Given the description of an element on the screen output the (x, y) to click on. 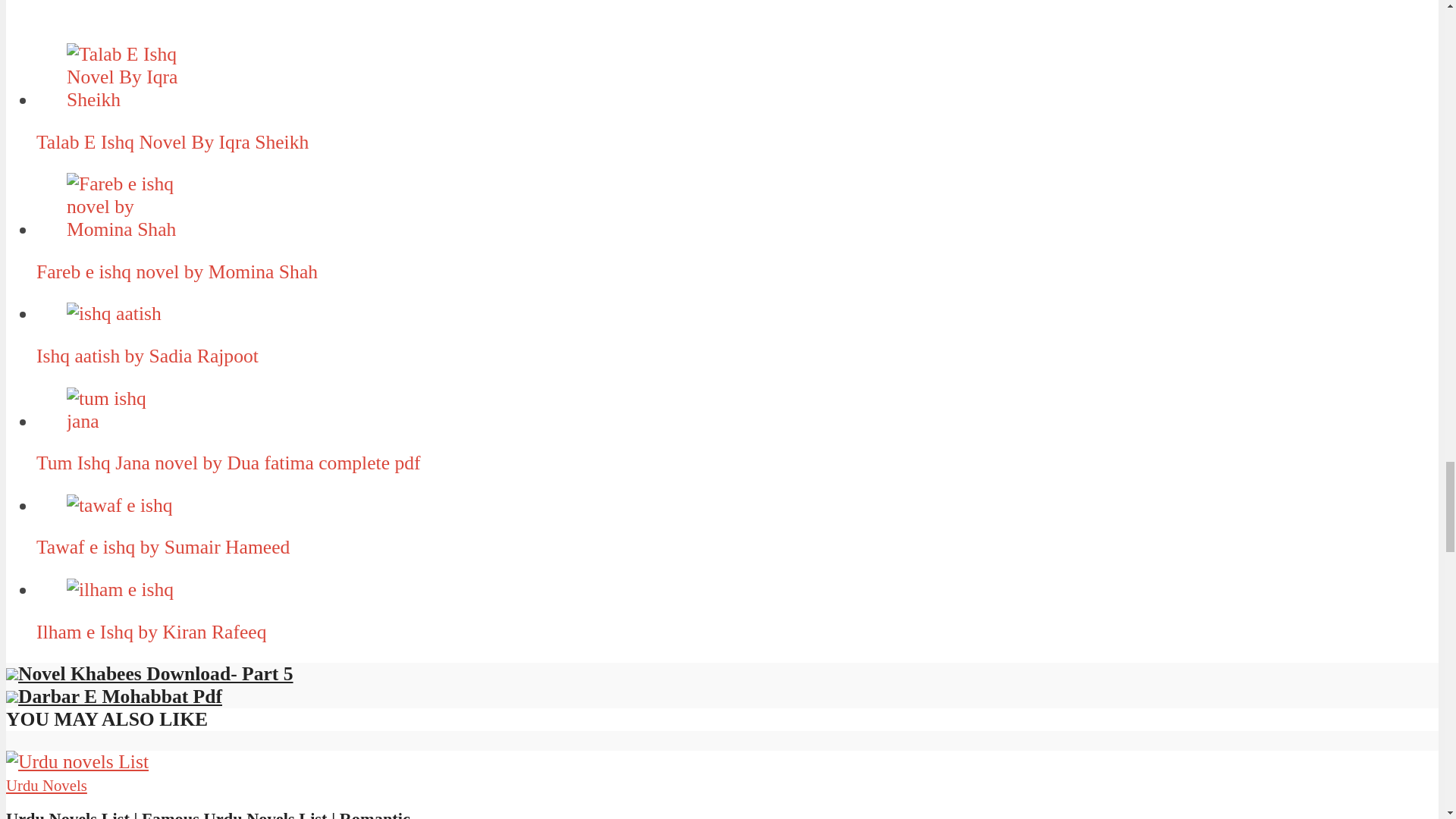
Tawaf e ishq by Sumair Hameed (119, 505)
Talab E Ishq Novel By Iqra Sheikh (123, 77)
Ilham e Ishq by Kiran Rafeeq (119, 589)
Tum Ishq Jana novel by Dua fatima complete pdf (123, 410)
Fareb e ishq novel by Momina Shah (123, 206)
Ishq aatish by Sadia Rajpoot (113, 313)
